Given the description of an element on the screen output the (x, y) to click on. 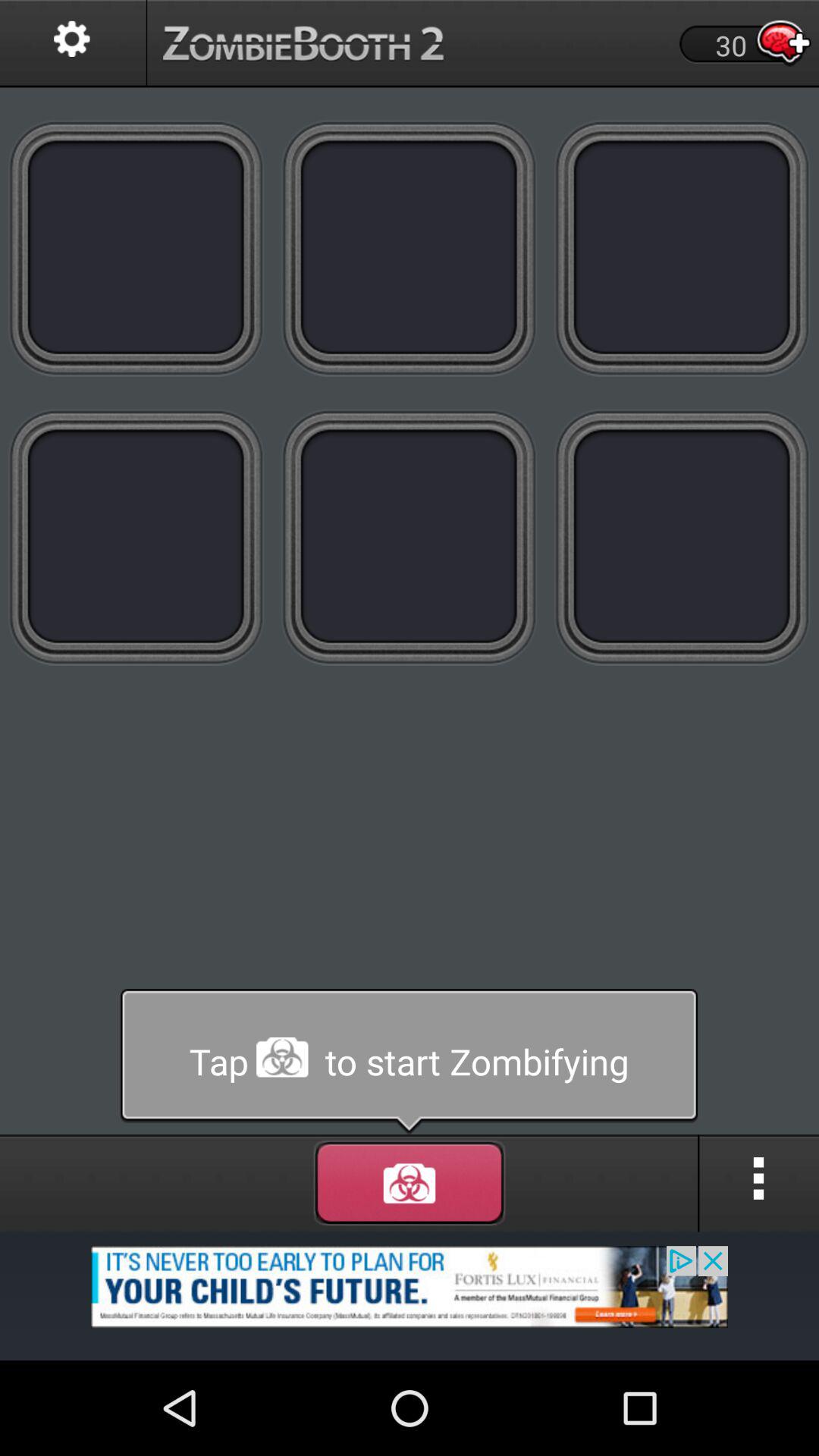
change settings (72, 43)
